Given the description of an element on the screen output the (x, y) to click on. 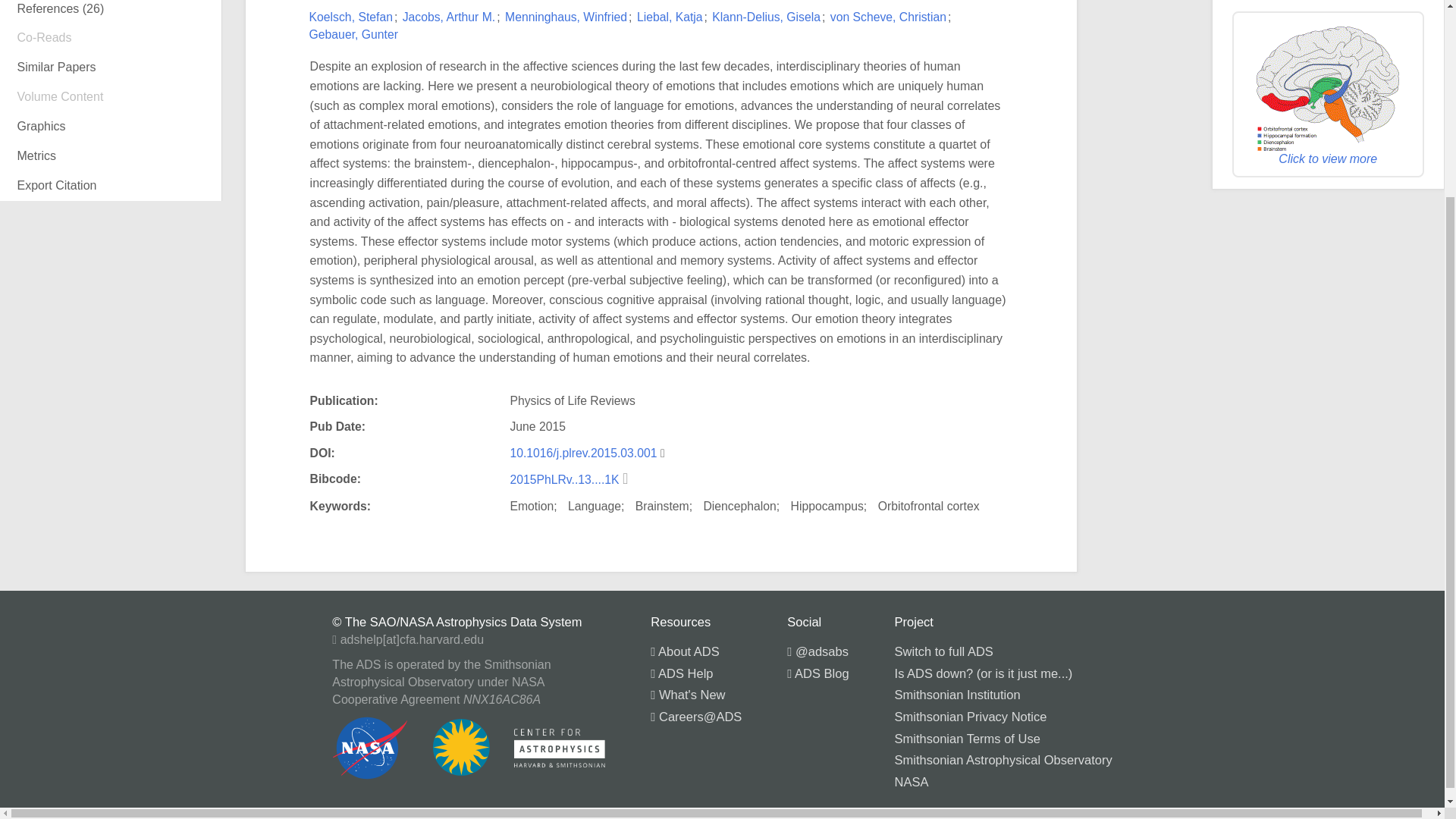
Graphics (110, 126)
Metrics (110, 156)
Gebauer, Gunter (352, 33)
Smithsonian Institution (957, 694)
Menninghaus, Winfried (566, 16)
2015PhLRv..13....1K (566, 479)
Click to view more (1327, 97)
Harvard Center for Astrophysics logo (559, 747)
What's New (687, 694)
von Scheve, Christian (887, 16)
